Given the description of an element on the screen output the (x, y) to click on. 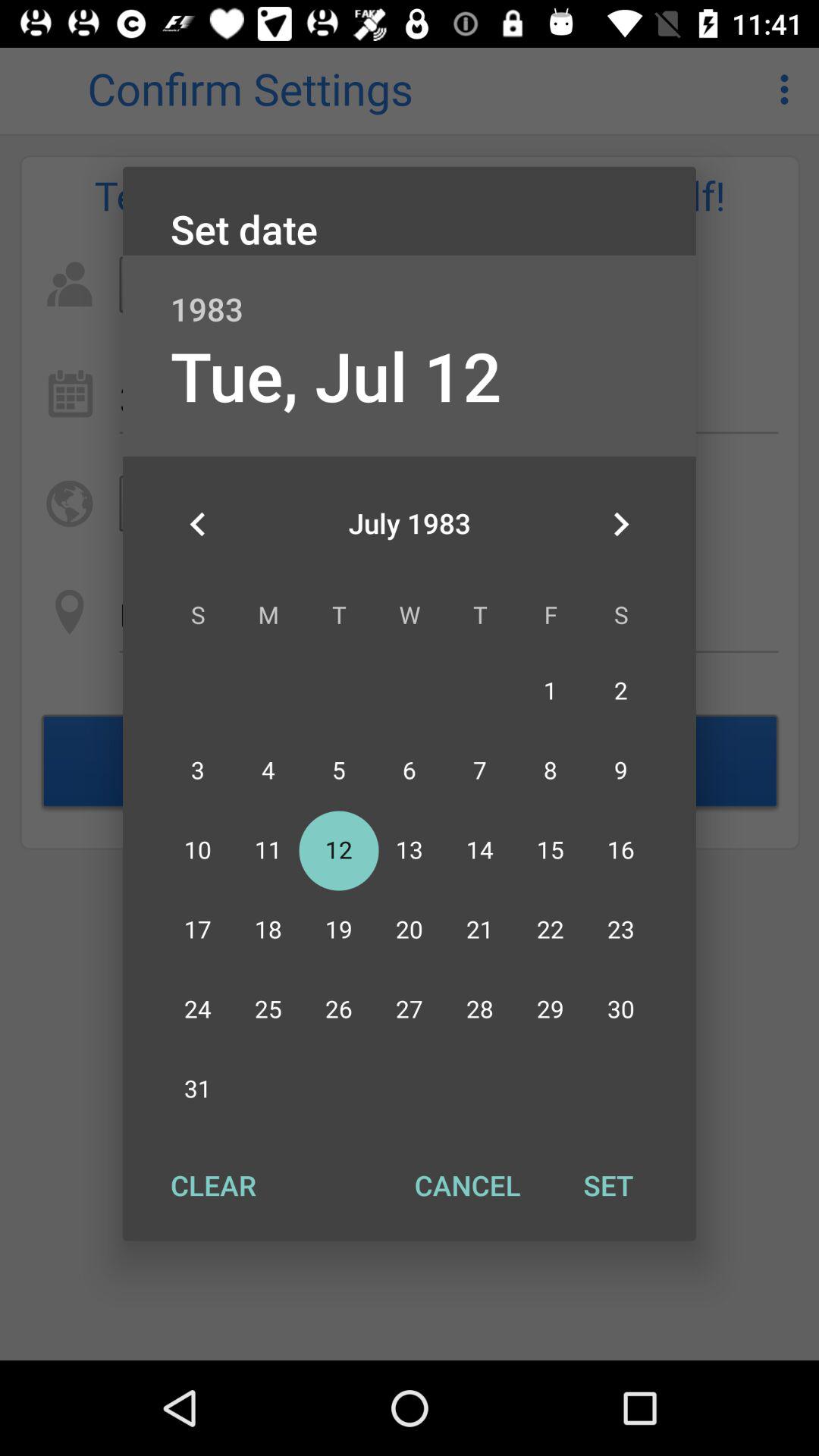
choose button next to the clear button (467, 1185)
